Given the description of an element on the screen output the (x, y) to click on. 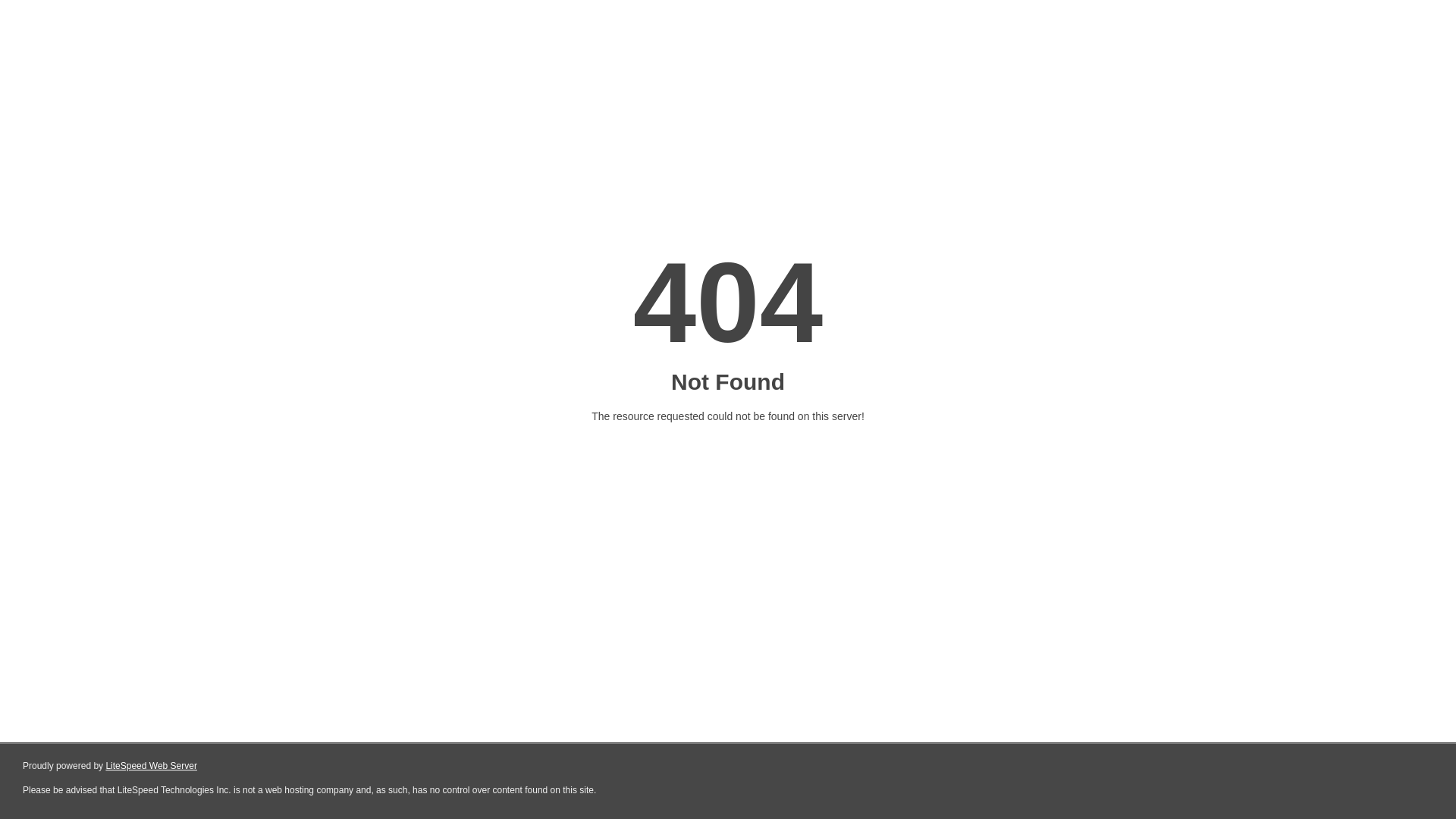
LiteSpeed Web Server Element type: text (151, 765)
